Given the description of an element on the screen output the (x, y) to click on. 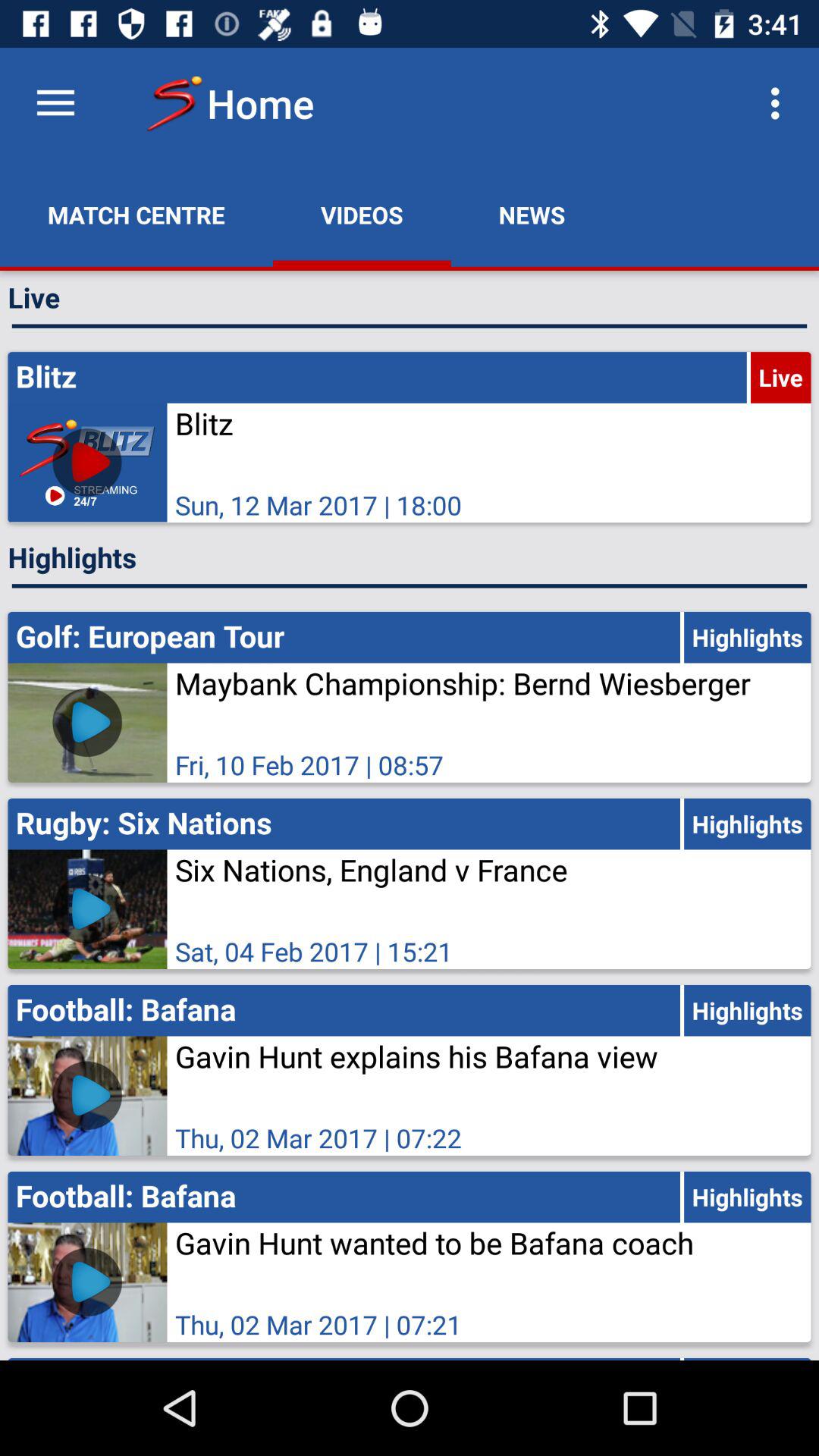
jump to the videos icon (362, 214)
